Given the description of an element on the screen output the (x, y) to click on. 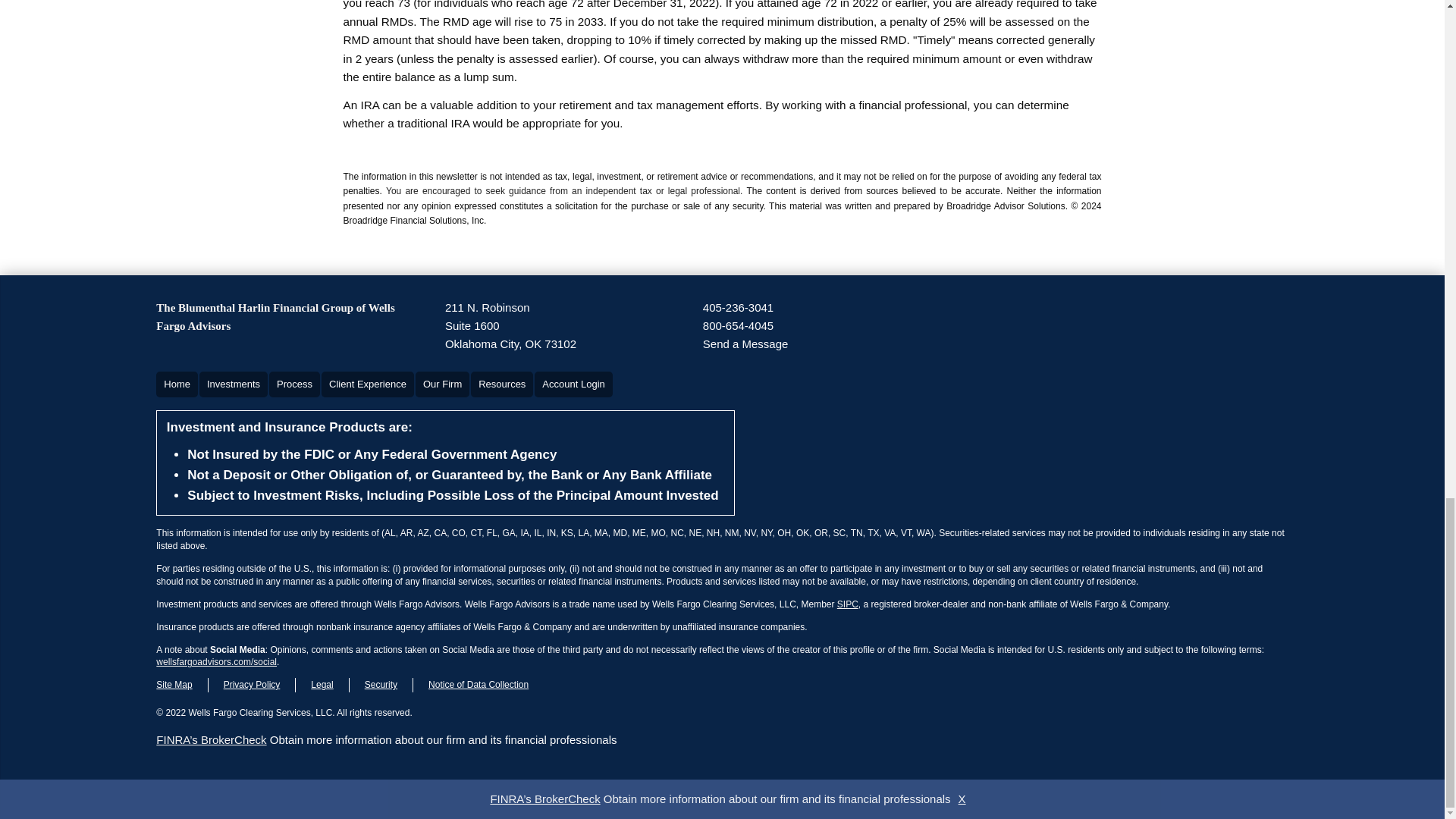
800-654-4045 (738, 325)
Our Firm (510, 325)
Client Experience (441, 384)
Send a Message (367, 384)
Process (746, 343)
Home (294, 384)
405-236-3041 (176, 384)
Investments (738, 307)
